Given the description of an element on the screen output the (x, y) to click on. 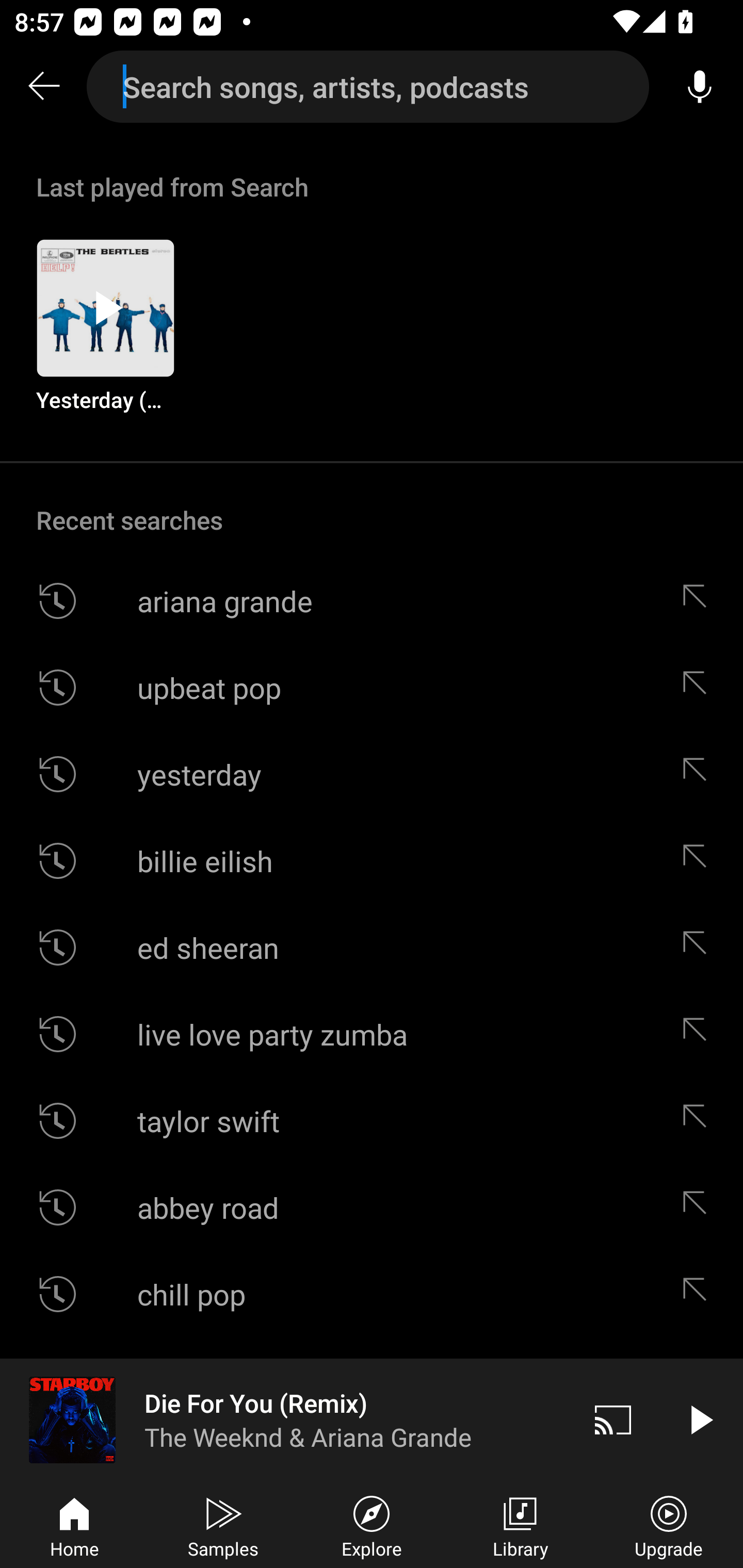
Search back (43, 86)
Search songs, artists, podcasts (367, 86)
Voice search (699, 86)
ariana grande Edit suggestion ariana grande (371, 601)
Edit suggestion ariana grande (699, 601)
upbeat pop Edit suggestion upbeat pop (371, 687)
Edit suggestion upbeat pop (699, 687)
yesterday Edit suggestion yesterday (371, 773)
Edit suggestion yesterday (699, 773)
billie eilish Edit suggestion billie eilish (371, 860)
Edit suggestion billie eilish (699, 860)
ed sheeran Edit suggestion ed sheeran (371, 947)
Edit suggestion ed sheeran (699, 947)
Edit suggestion live love party zumba (699, 1033)
taylor swift Edit suggestion taylor swift (371, 1120)
Edit suggestion taylor swift (699, 1120)
abbey road Edit suggestion abbey road (371, 1207)
Edit suggestion abbey road (699, 1207)
chill pop Edit suggestion chill pop (371, 1294)
Edit suggestion chill pop (699, 1294)
Die For You (Remix) The Weeknd & Ariana Grande (284, 1419)
Cast. Disconnected (612, 1419)
Play video (699, 1419)
Home (74, 1524)
Samples (222, 1524)
Explore (371, 1524)
Library (519, 1524)
Upgrade (668, 1524)
